Given the description of an element on the screen output the (x, y) to click on. 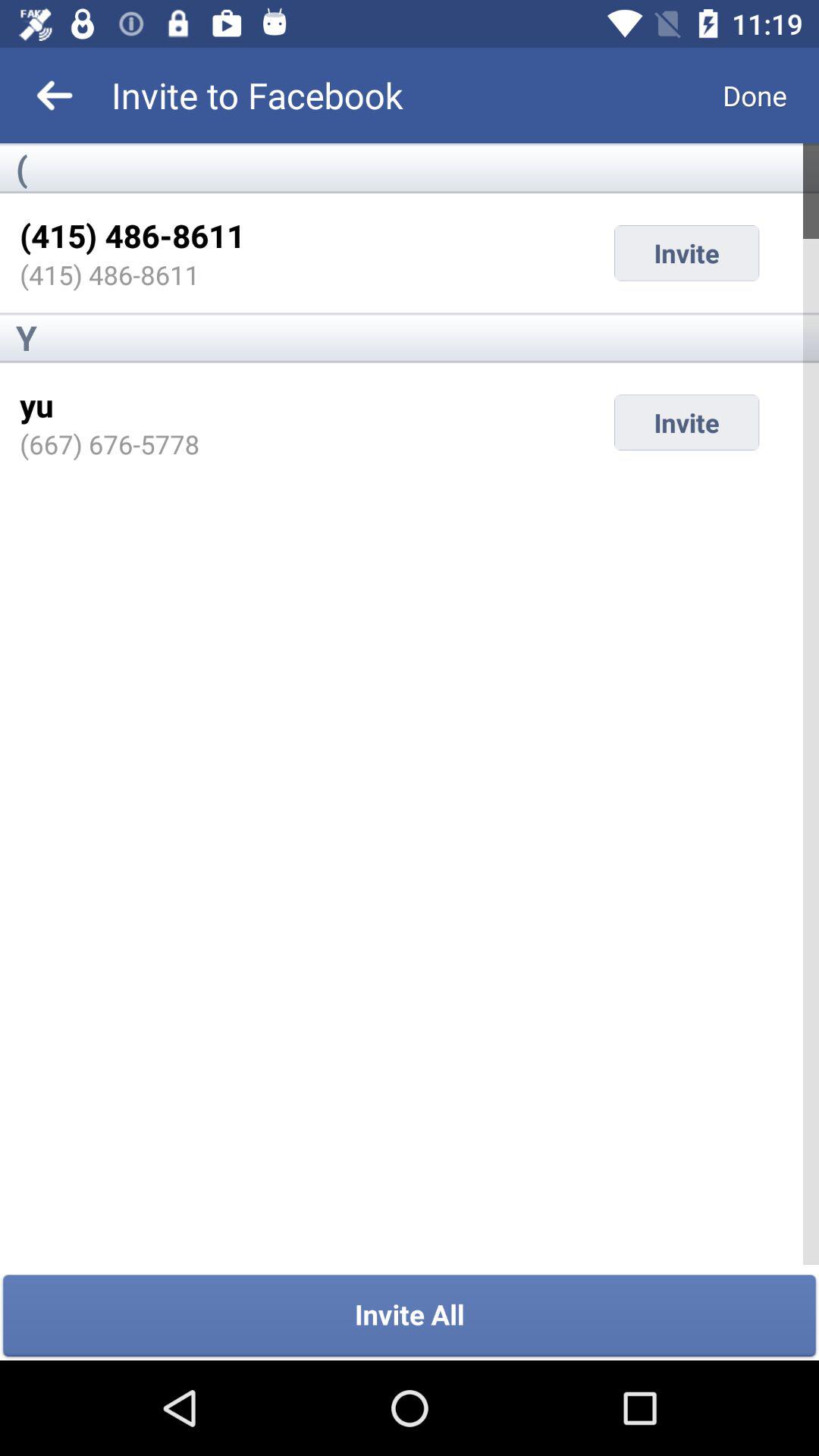
launch the icon below y item (36, 404)
